Given the description of an element on the screen output the (x, y) to click on. 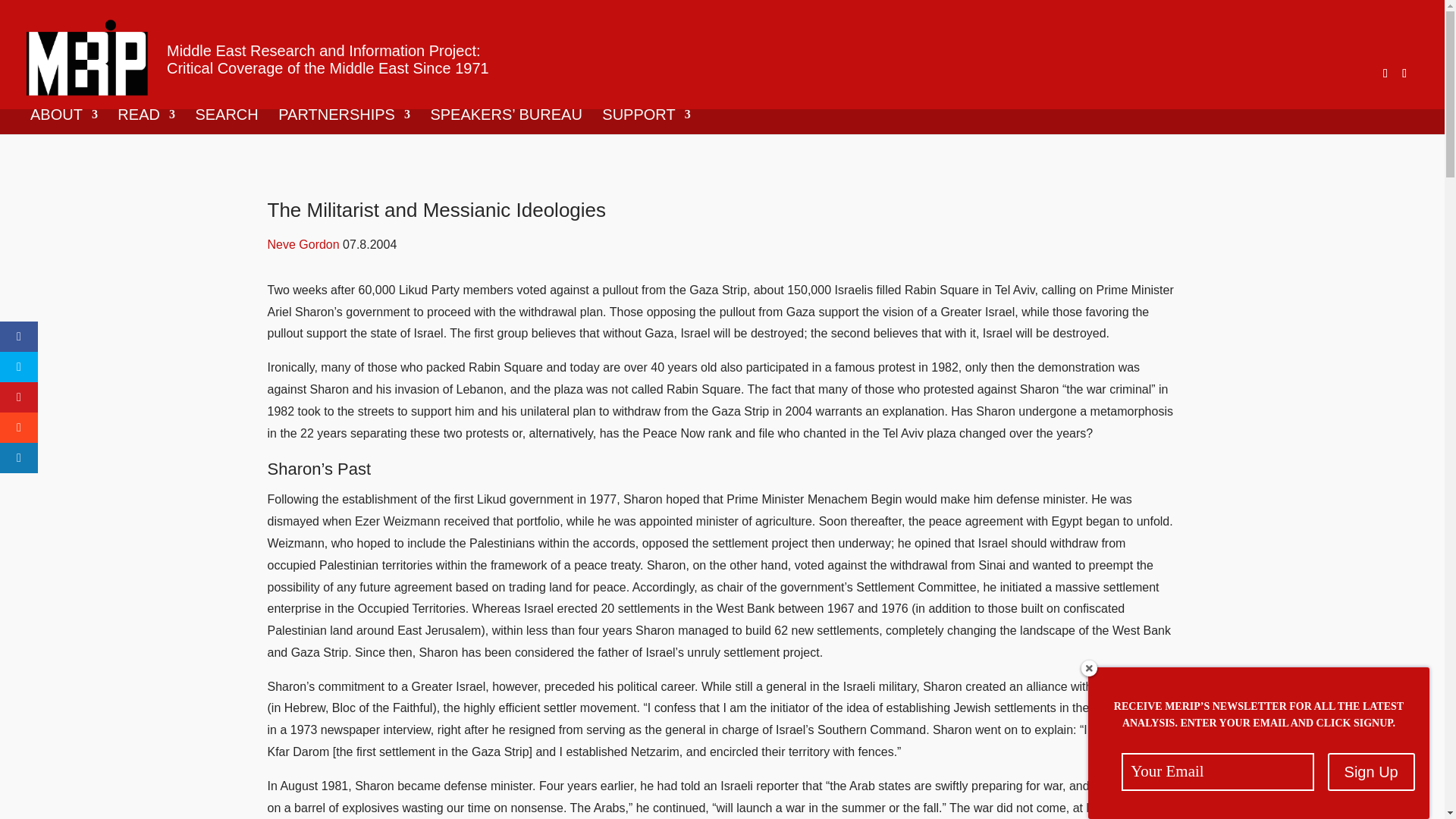
SUPPORT (646, 121)
Sign Up (1371, 771)
PARTNERSHIPS (344, 121)
SEARCH (226, 121)
READ (145, 121)
ABOUT (63, 121)
